Given the description of an element on the screen output the (x, y) to click on. 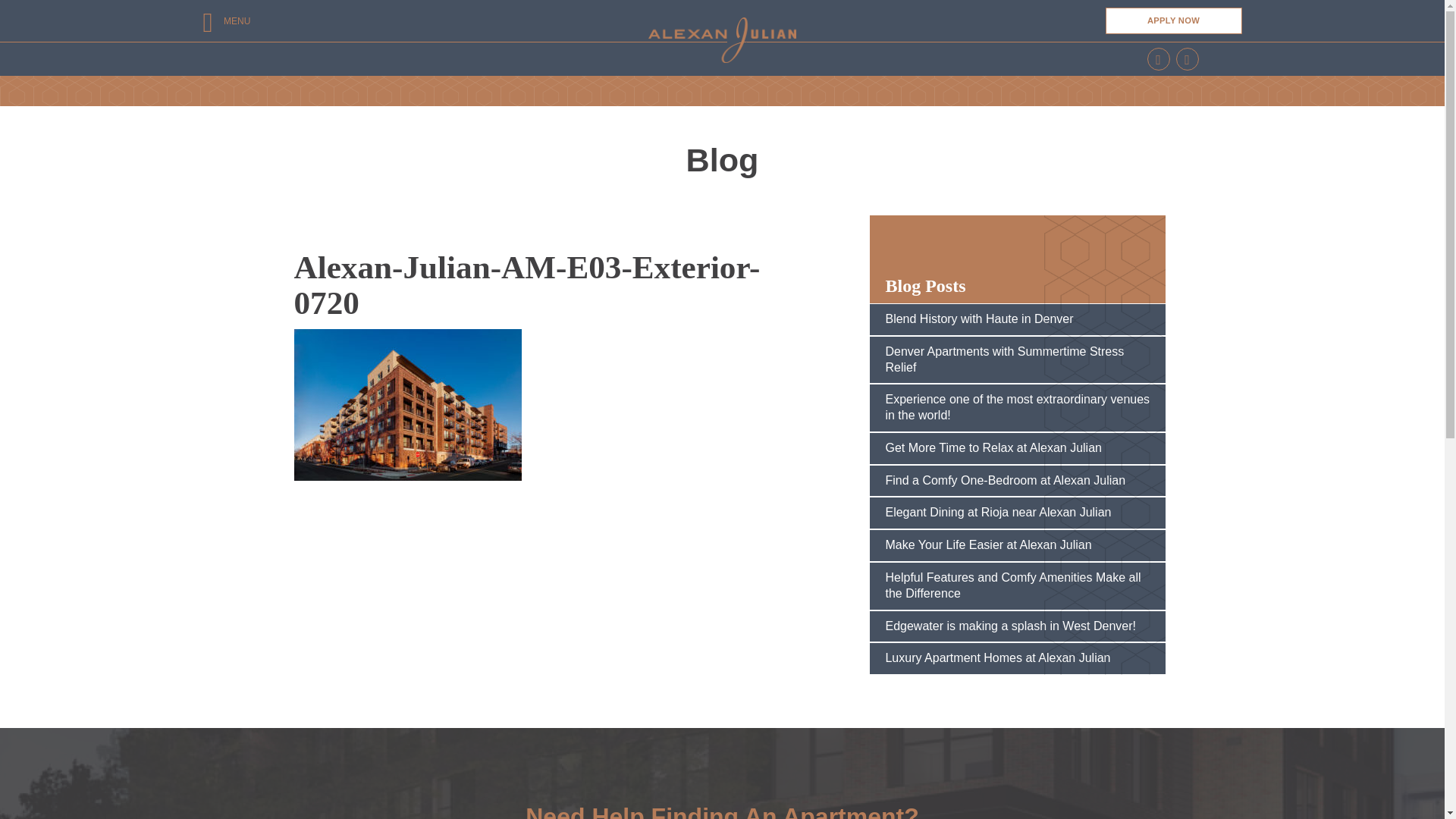
Denver Apartments with Summertime Stress Relief (1017, 359)
Elegant Dining at Rioja near Alexan Julian (1017, 512)
Blend History with Haute in Denver (1017, 319)
Edgewater is making a splash in West Denver! (1017, 626)
Find a Comfy One-Bedroom at Alexan Julian (1017, 480)
Luxury Apartment Homes at Alexan Julian (1017, 658)
Get More Time to Relax at Alexan Julian (1017, 448)
Make Your Life Easier at Alexan Julian (1017, 545)
Helpful Features and Comfy Amenities Make all the Difference (1017, 585)
APPLY NOW (1173, 21)
